Given the description of an element on the screen output the (x, y) to click on. 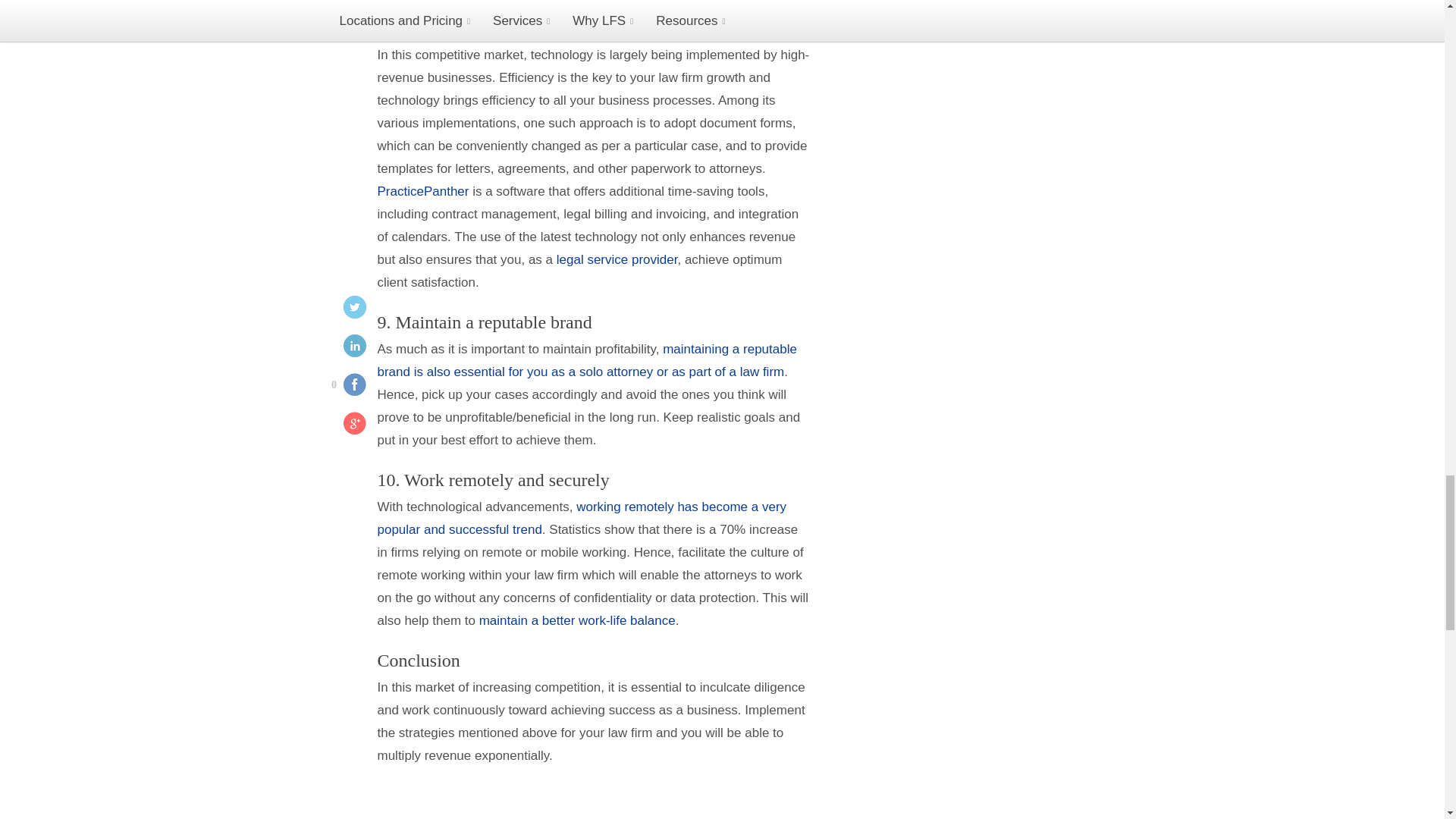
PracticePanther (422, 191)
